Given the description of an element on the screen output the (x, y) to click on. 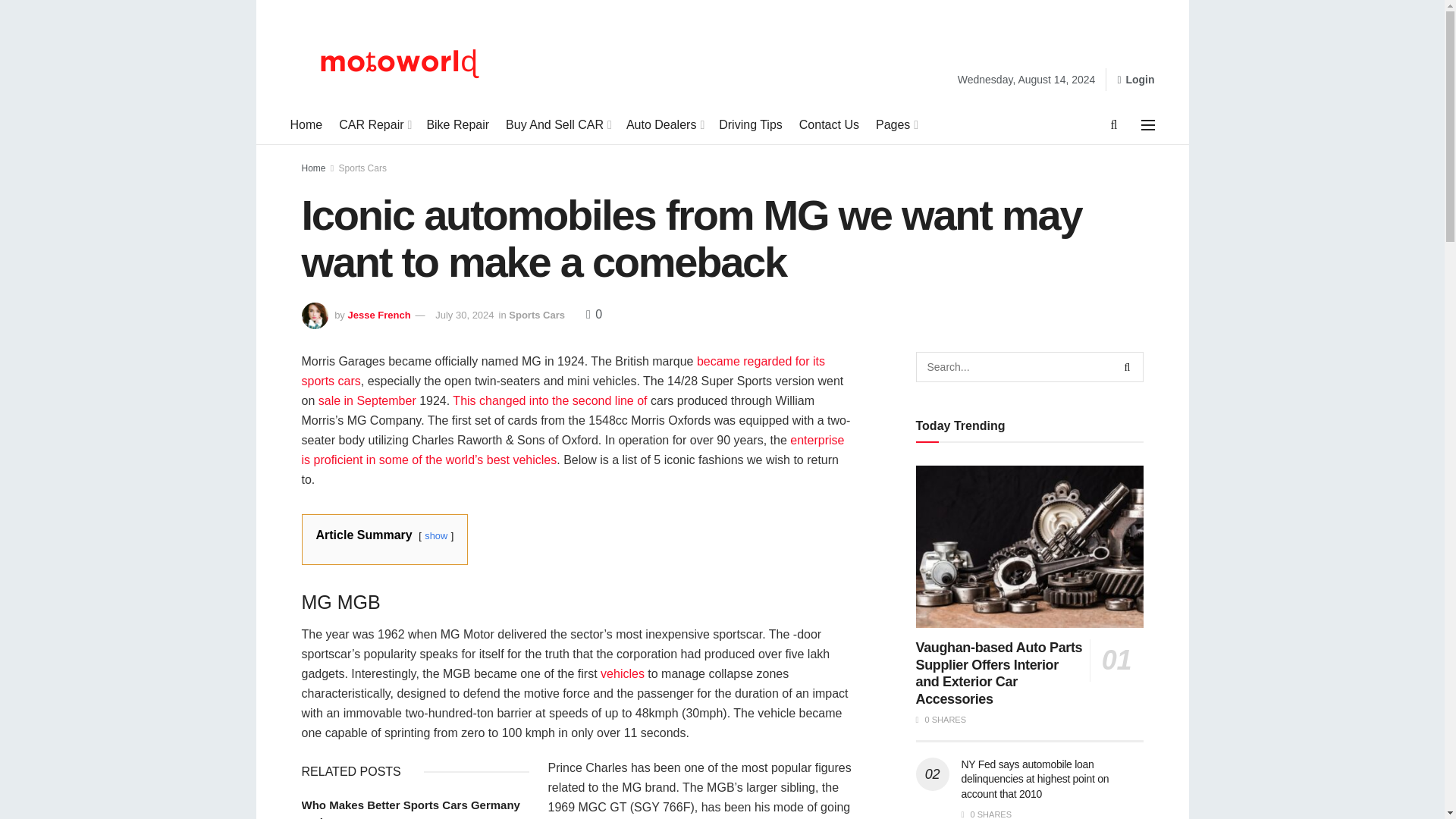
CAR Repair (374, 124)
Pages (895, 124)
Driving Tips (751, 124)
Home (305, 124)
Login (1135, 79)
Contact Us (829, 124)
Buy And Sell CAR (557, 124)
Auto Dealers (663, 124)
Bike Repair (457, 124)
